Given the description of an element on the screen output the (x, y) to click on. 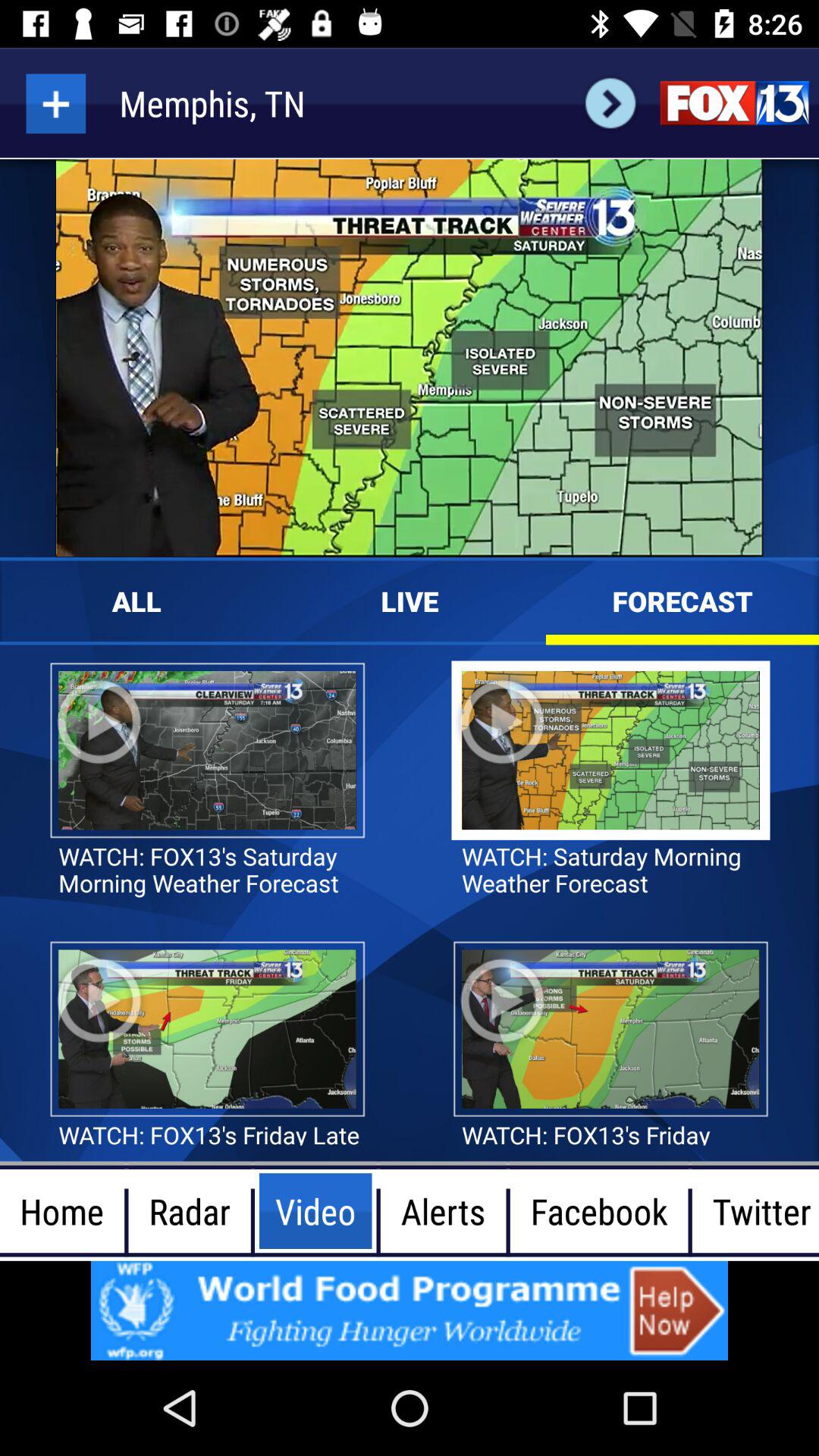
go to next button (610, 103)
